Given the description of an element on the screen output the (x, y) to click on. 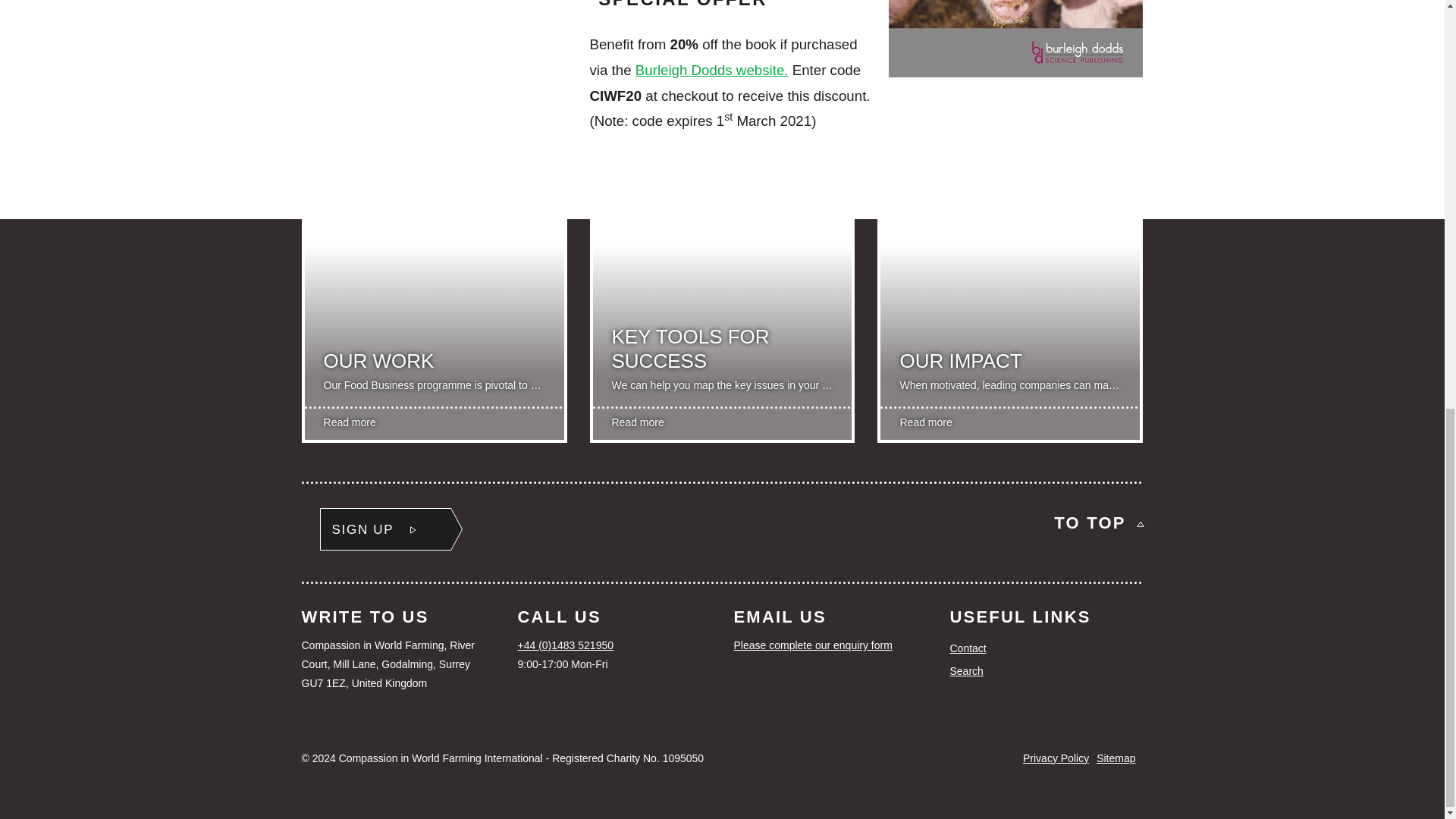
Search (1045, 670)
Please complete our enquiry form (830, 645)
Call us (613, 645)
Privacy Policy (1056, 758)
SIGN UP (385, 528)
Sitemap (1115, 758)
TO TOP (1098, 522)
